Given the description of an element on the screen output the (x, y) to click on. 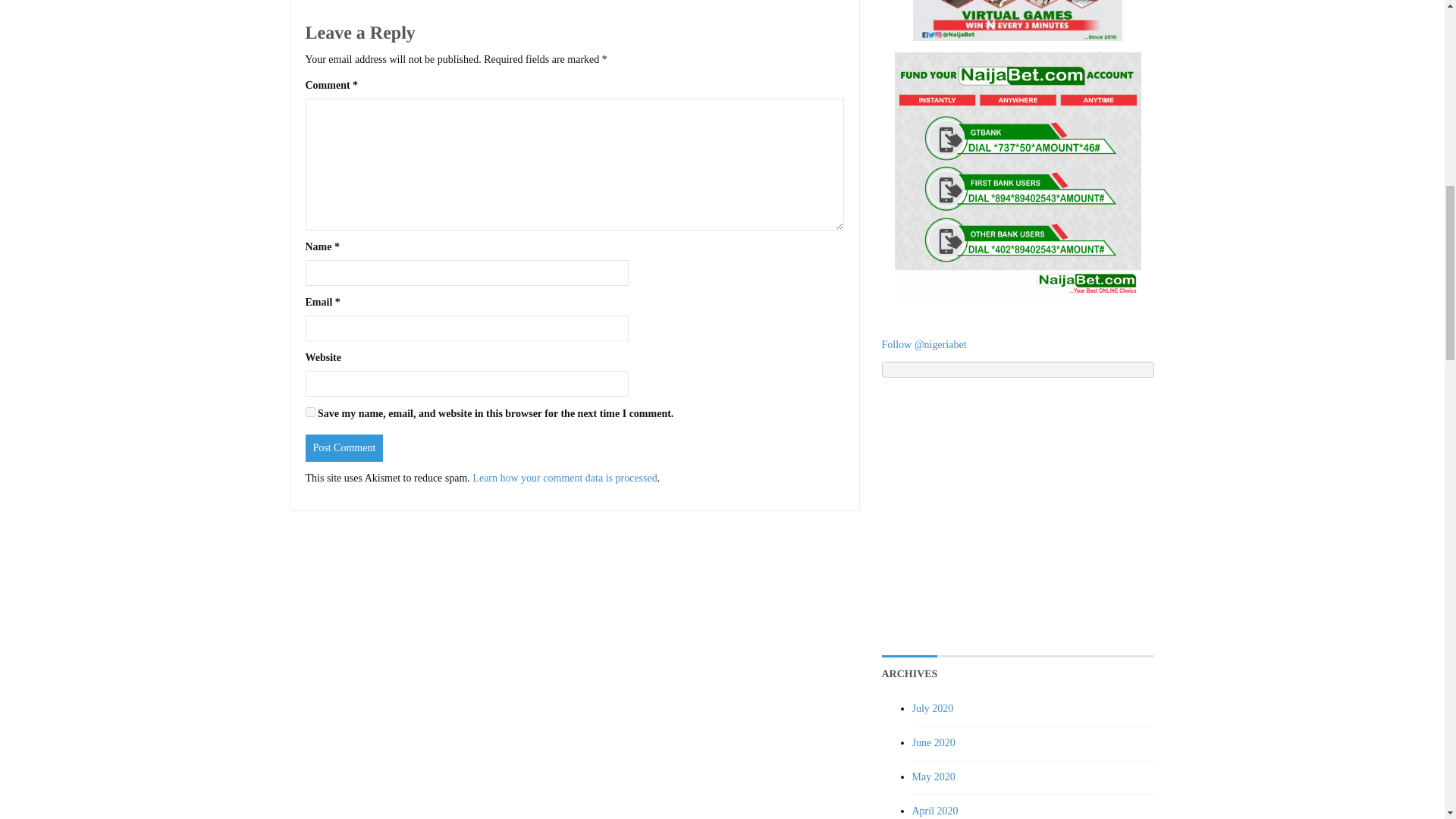
July 2020 (932, 708)
Post Comment (343, 447)
Post Comment (343, 447)
yes (309, 411)
Learn how your comment data is processed (563, 478)
May 2020 (933, 776)
June 2020 (933, 742)
